Given the description of an element on the screen output the (x, y) to click on. 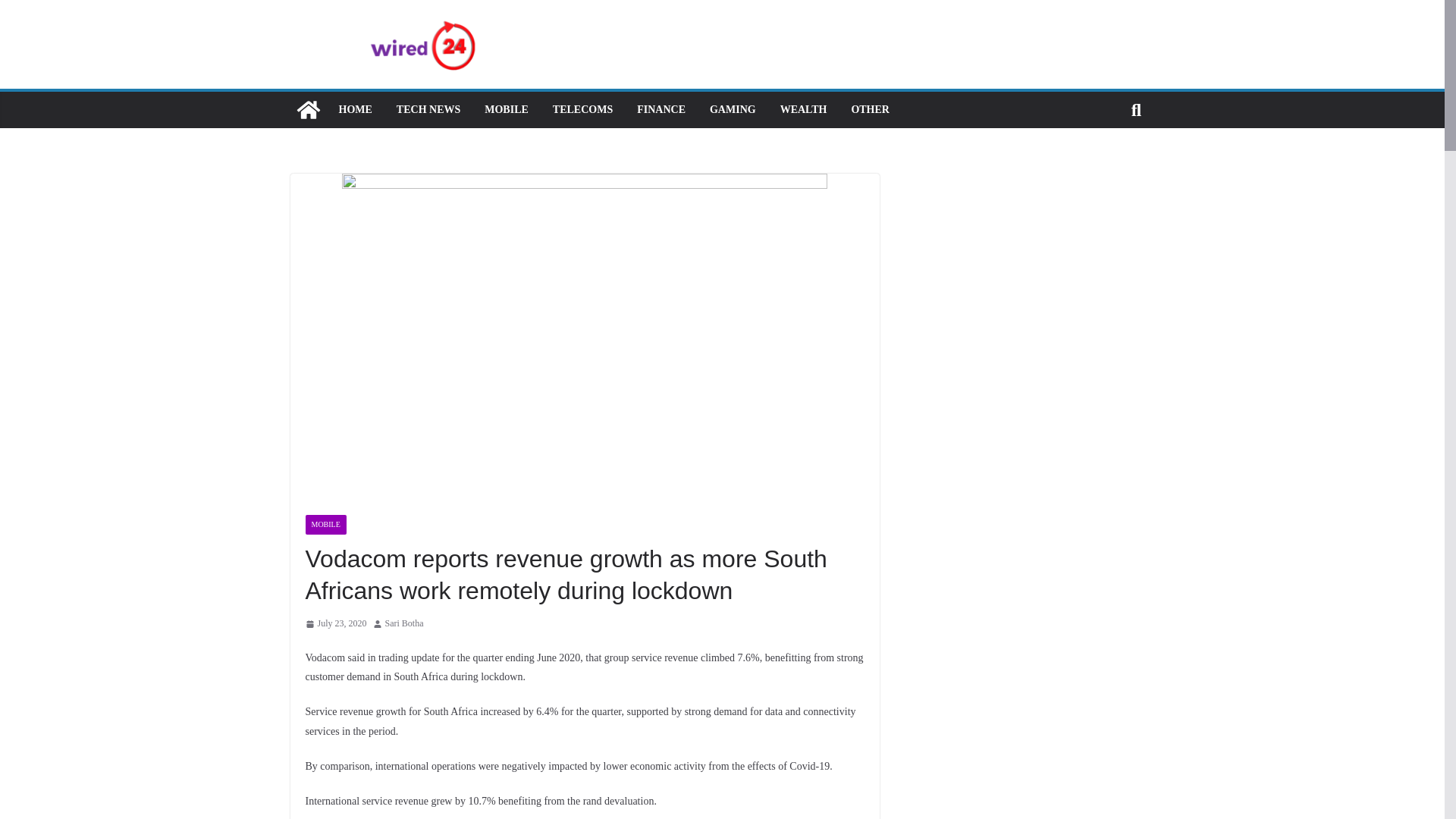
WEALTH (803, 109)
Sari Botha (404, 623)
MOBILE (325, 524)
GAMING (732, 109)
Wired24 (307, 109)
TECH NEWS (428, 109)
FINANCE (661, 109)
Sari Botha (404, 623)
MOBILE (506, 109)
HOME (354, 109)
